Given the description of an element on the screen output the (x, y) to click on. 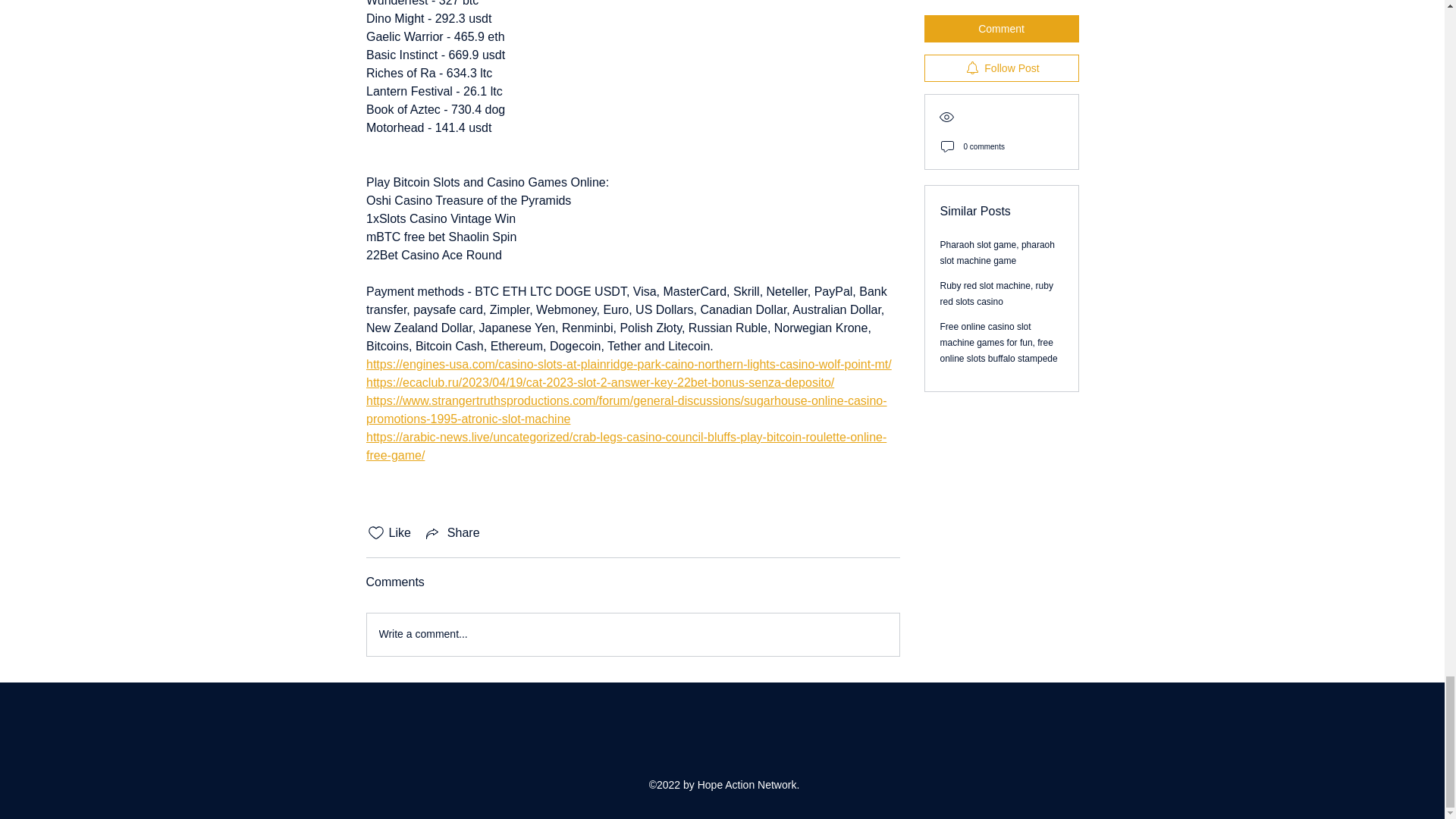
Share (451, 533)
Write a comment... (632, 634)
